Given the description of an element on the screen output the (x, y) to click on. 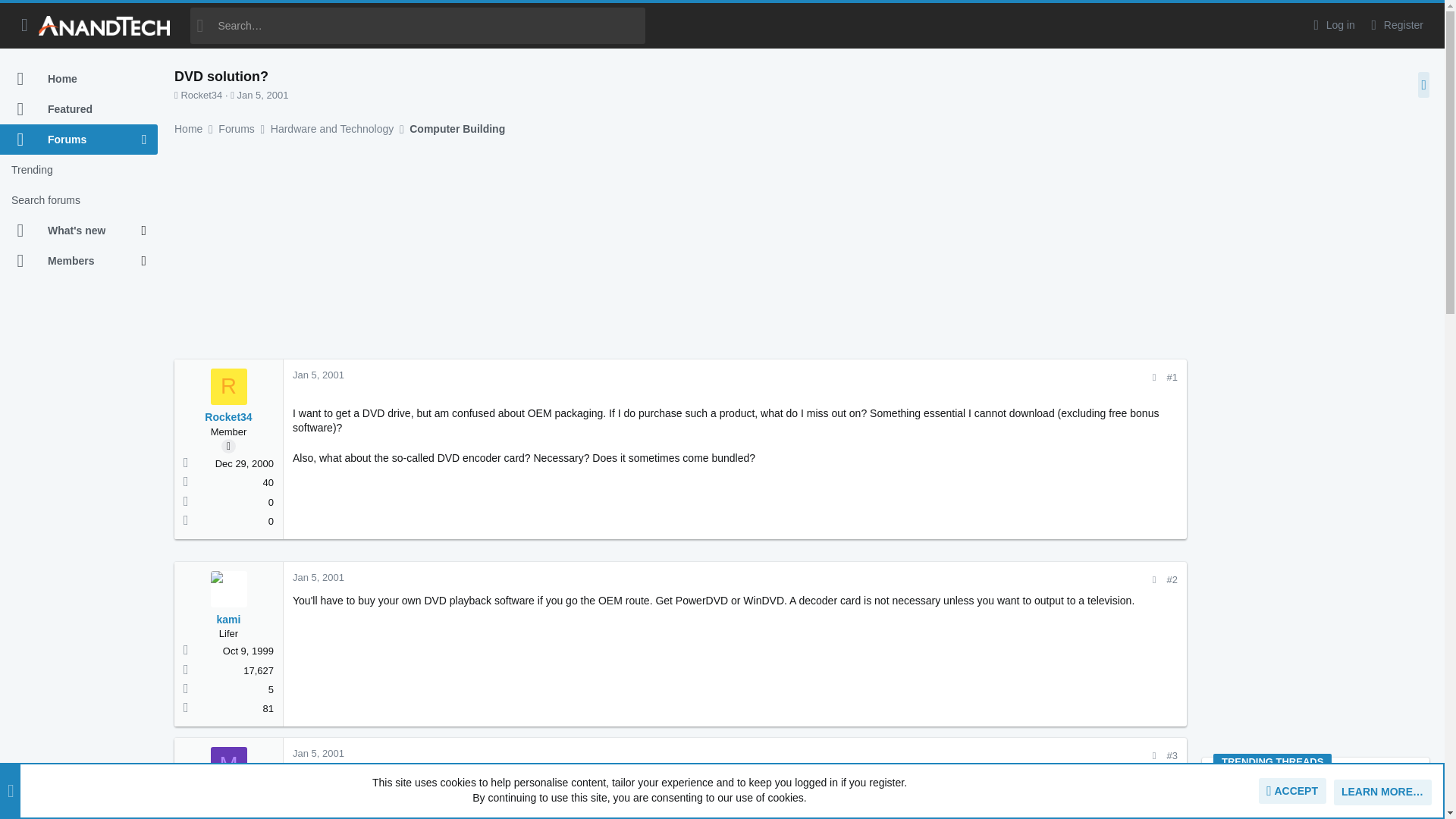
Original poster (228, 445)
What's new (70, 230)
Home (78, 78)
Log in (1332, 24)
Forums (70, 139)
Register (1395, 24)
Trending (78, 169)
Search forums (78, 200)
Jan 5, 2001 at 9:26 PM (262, 94)
Featured (78, 109)
